Given the description of an element on the screen output the (x, y) to click on. 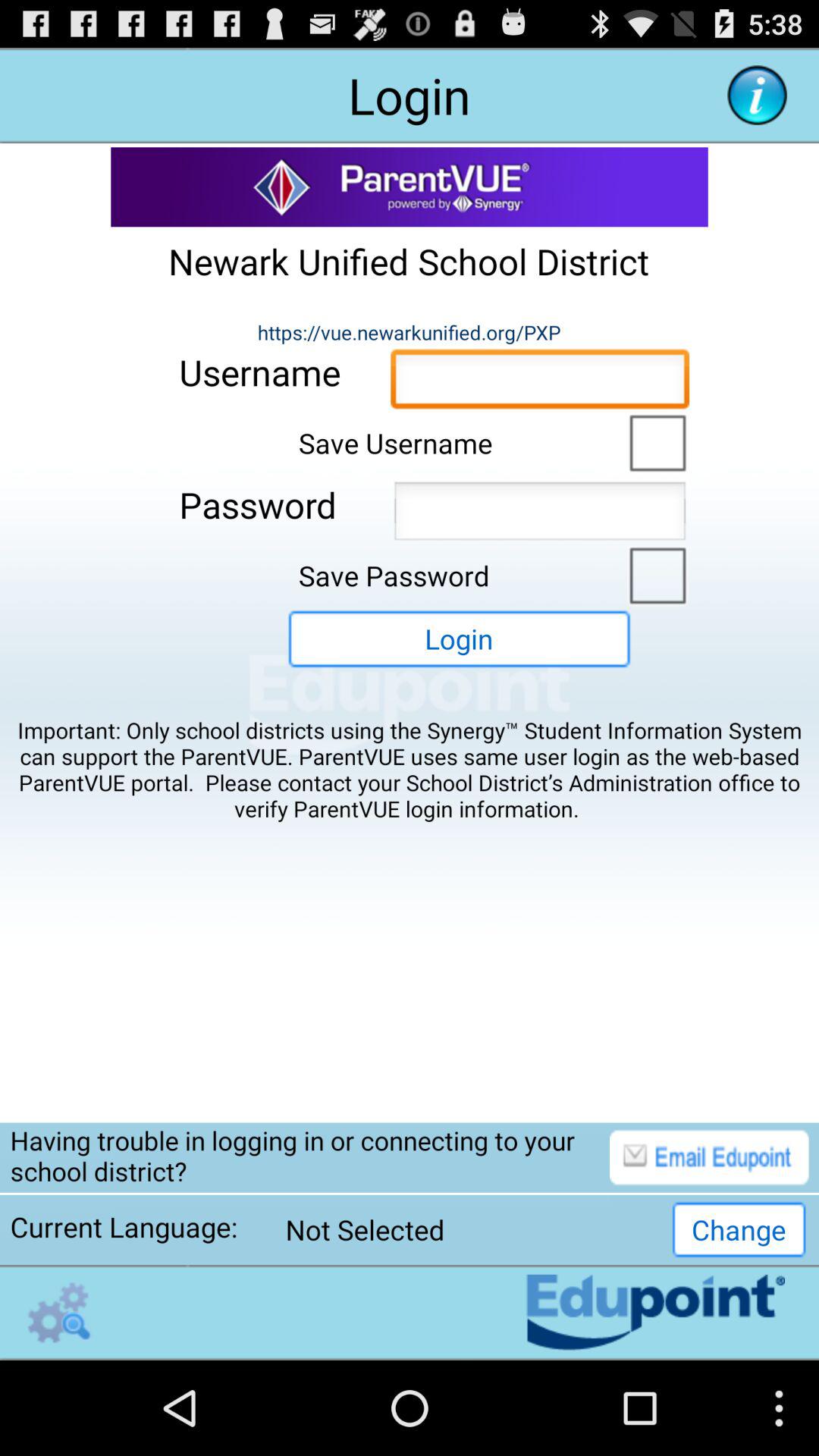
allow text input (539, 515)
